Given the description of an element on the screen output the (x, y) to click on. 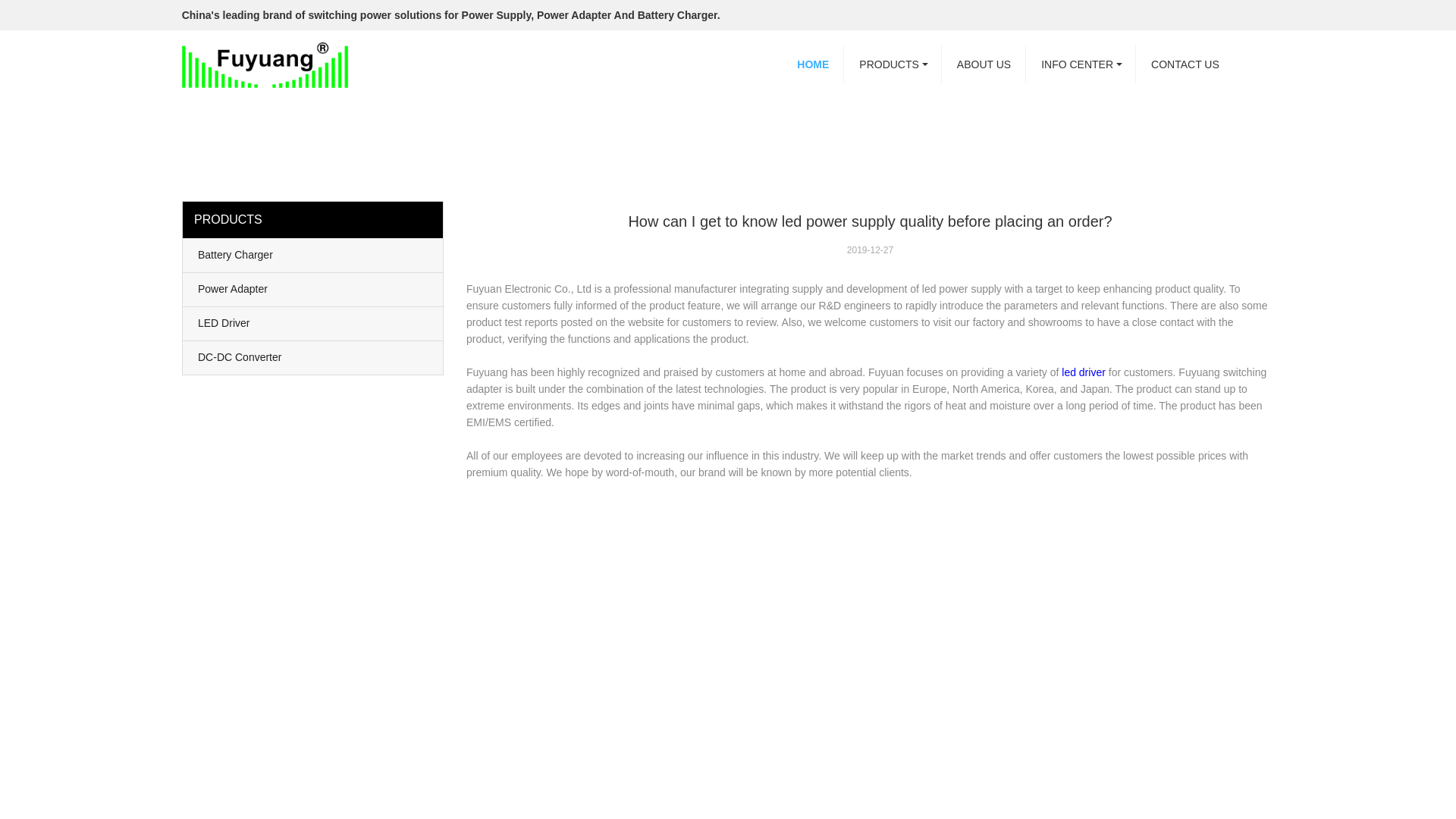
Power Adapter (312, 289)
CONTACT US (1184, 64)
ABOUT US (984, 64)
led driver (1083, 372)
DC-DC Converter (312, 357)
LED Driver (312, 323)
HOME (812, 64)
PRODUCTS (893, 64)
Battery Charger (312, 255)
INFO CENTER (1080, 64)
